Given the description of an element on the screen output the (x, y) to click on. 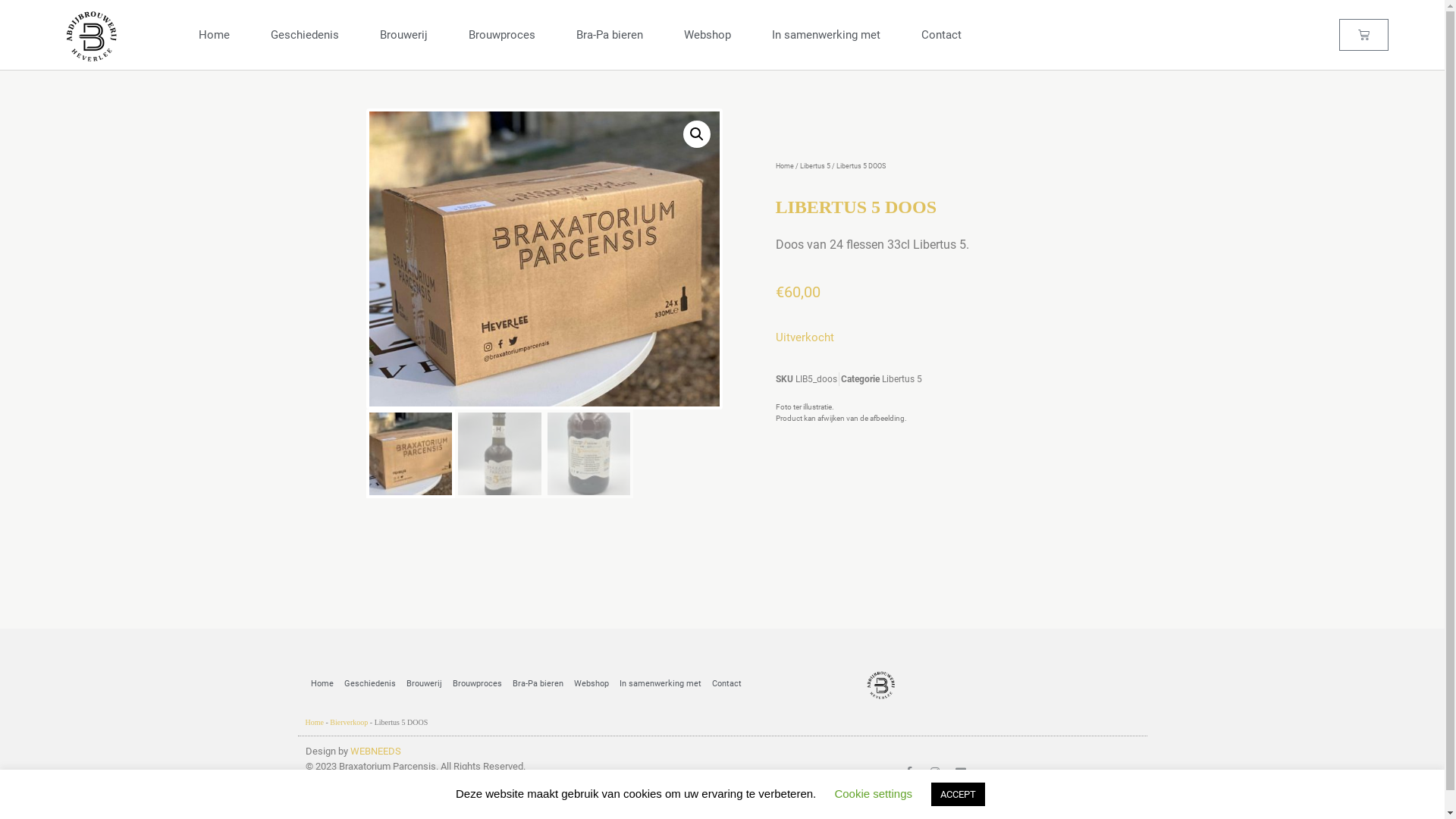
Brouwerij Element type: text (423, 683)
Libertus 5 Element type: text (814, 165)
Contact Element type: text (941, 34)
IMG_2524.jpg Element type: hover (893, 344)
Bra-Pa bieren Element type: text (609, 34)
WEBNEEDS Element type: text (375, 750)
Libertus 5 Element type: text (901, 378)
Bra-Pa bieren Element type: text (536, 683)
Geschiedenis Element type: text (369, 683)
Contact Element type: text (726, 683)
Home Element type: text (321, 683)
Brouwproces Element type: text (477, 683)
Geschiedenis Element type: text (304, 34)
In samenwerking met Element type: text (825, 34)
ACCEPT Element type: text (958, 794)
Braxatorium_doos.jpeg Element type: hover (543, 258)
Webshop Element type: text (707, 34)
Webshop Element type: text (591, 683)
In samenwerking met Element type: text (660, 683)
Home Element type: text (784, 165)
Home Element type: text (313, 722)
Brouwerij Element type: text (403, 34)
Brouwproces Element type: text (501, 34)
Bierverkoop Element type: text (348, 722)
Cookie settings Element type: text (873, 793)
Home Element type: text (214, 34)
